Given the description of an element on the screen output the (x, y) to click on. 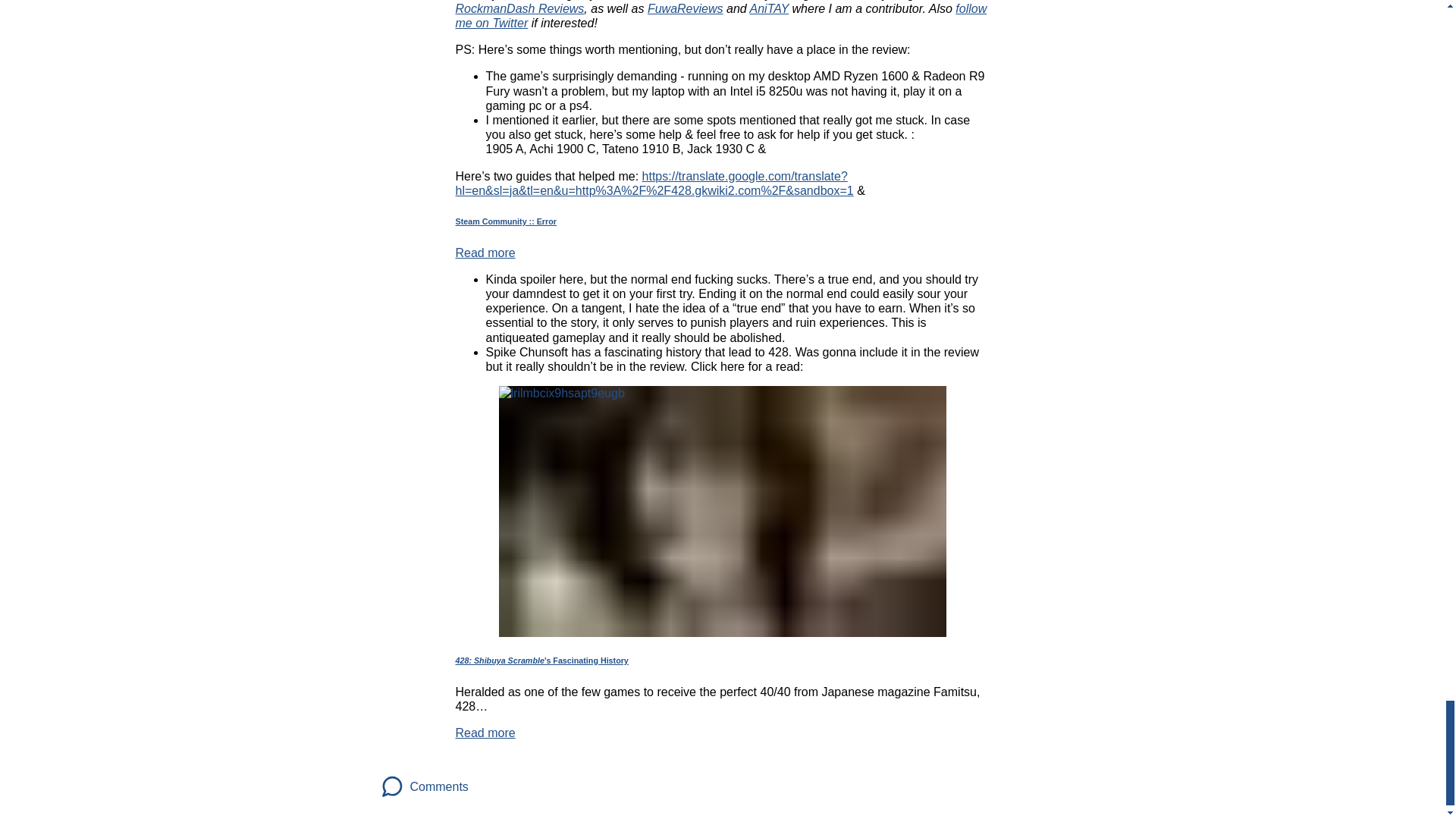
428: Shibuya Scramble's Fascinating History (721, 660)
lrilmbcix9hsapt9eugb (722, 511)
follow me on Twitter (720, 15)
Read more (484, 252)
AniTAY (769, 8)
RockmanDash Reviews (518, 8)
FuwaReviews (685, 8)
Steam Community :: Error (721, 221)
Read more (484, 732)
